Given the description of an element on the screen output the (x, y) to click on. 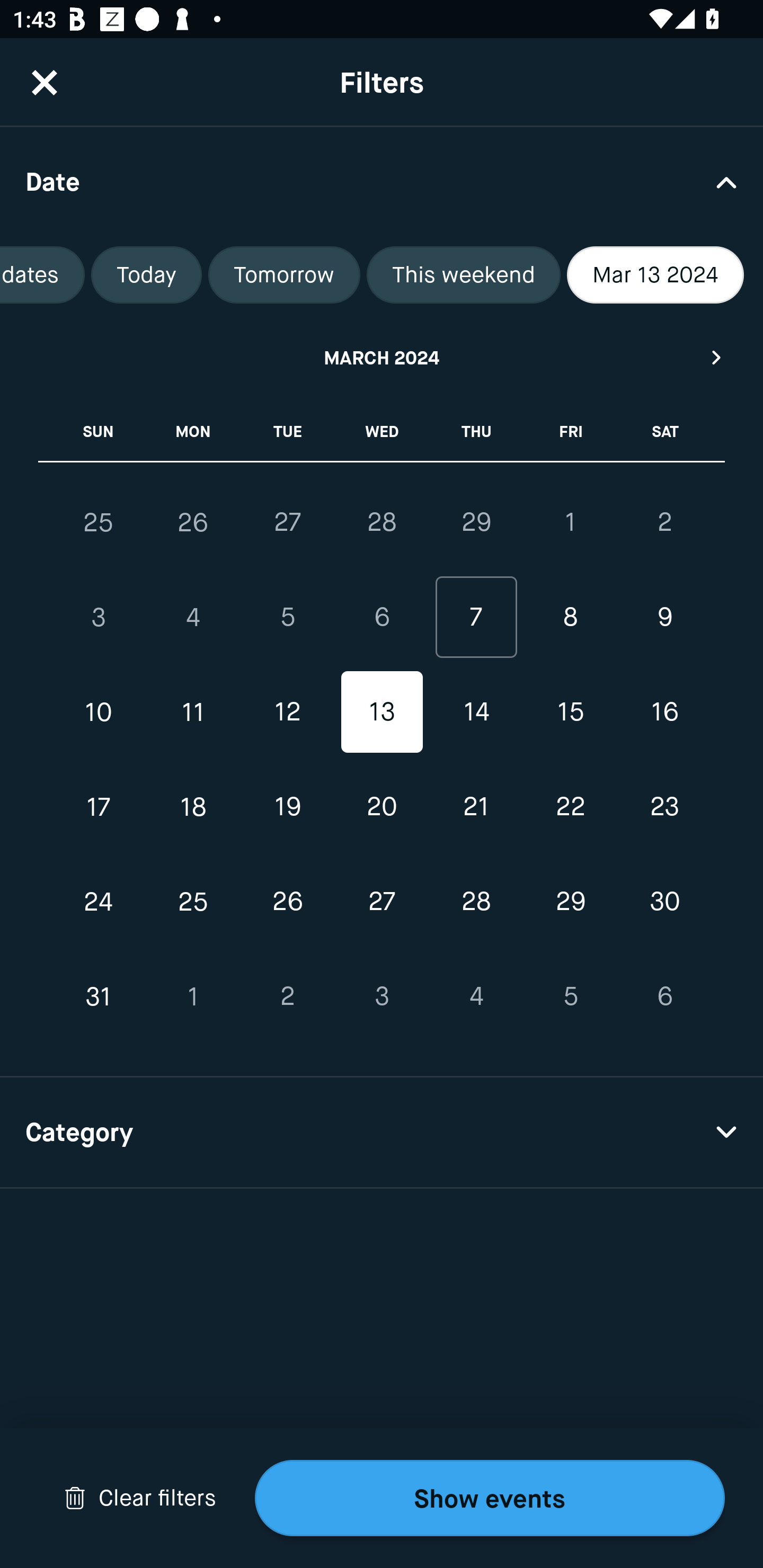
CloseButton (44, 82)
Date Drop Down Arrow (381, 181)
Today (146, 274)
Tomorrow (284, 274)
This weekend (463, 274)
Mar 13 2024 (654, 274)
Next (717, 357)
25 (98, 522)
26 (192, 522)
27 (287, 522)
28 (381, 522)
29 (475, 522)
1 (570, 522)
2 (664, 522)
3 (98, 617)
4 (192, 617)
5 (287, 617)
6 (381, 617)
7 (475, 617)
8 (570, 617)
9 (664, 617)
10 (98, 711)
11 (192, 711)
12 (287, 711)
13 (381, 711)
14 (475, 711)
15 (570, 711)
16 (664, 711)
17 (98, 806)
18 (192, 806)
19 (287, 806)
20 (381, 806)
21 (475, 806)
22 (570, 806)
23 (664, 806)
24 (98, 901)
25 (192, 901)
26 (287, 901)
27 (381, 901)
28 (475, 901)
29 (570, 901)
30 (664, 901)
31 (98, 996)
1 (192, 996)
2 (287, 996)
3 (381, 996)
4 (475, 996)
5 (570, 996)
6 (664, 996)
Category Drop Down Arrow (381, 1132)
Drop Down Arrow Clear filters (139, 1497)
Show events (489, 1497)
